Given the description of an element on the screen output the (x, y) to click on. 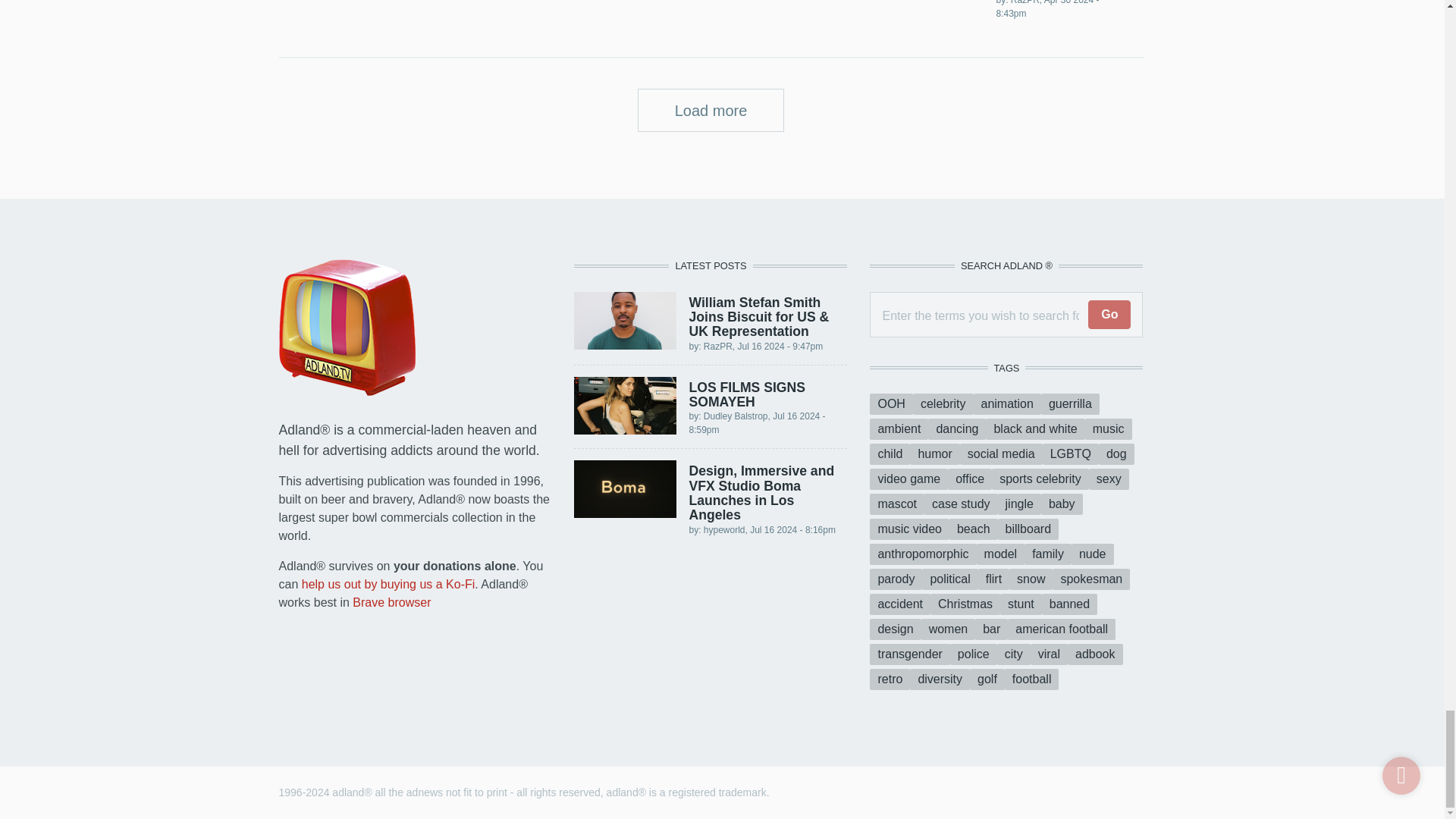
 Go (1109, 314)
